Given the description of an element on the screen output the (x, y) to click on. 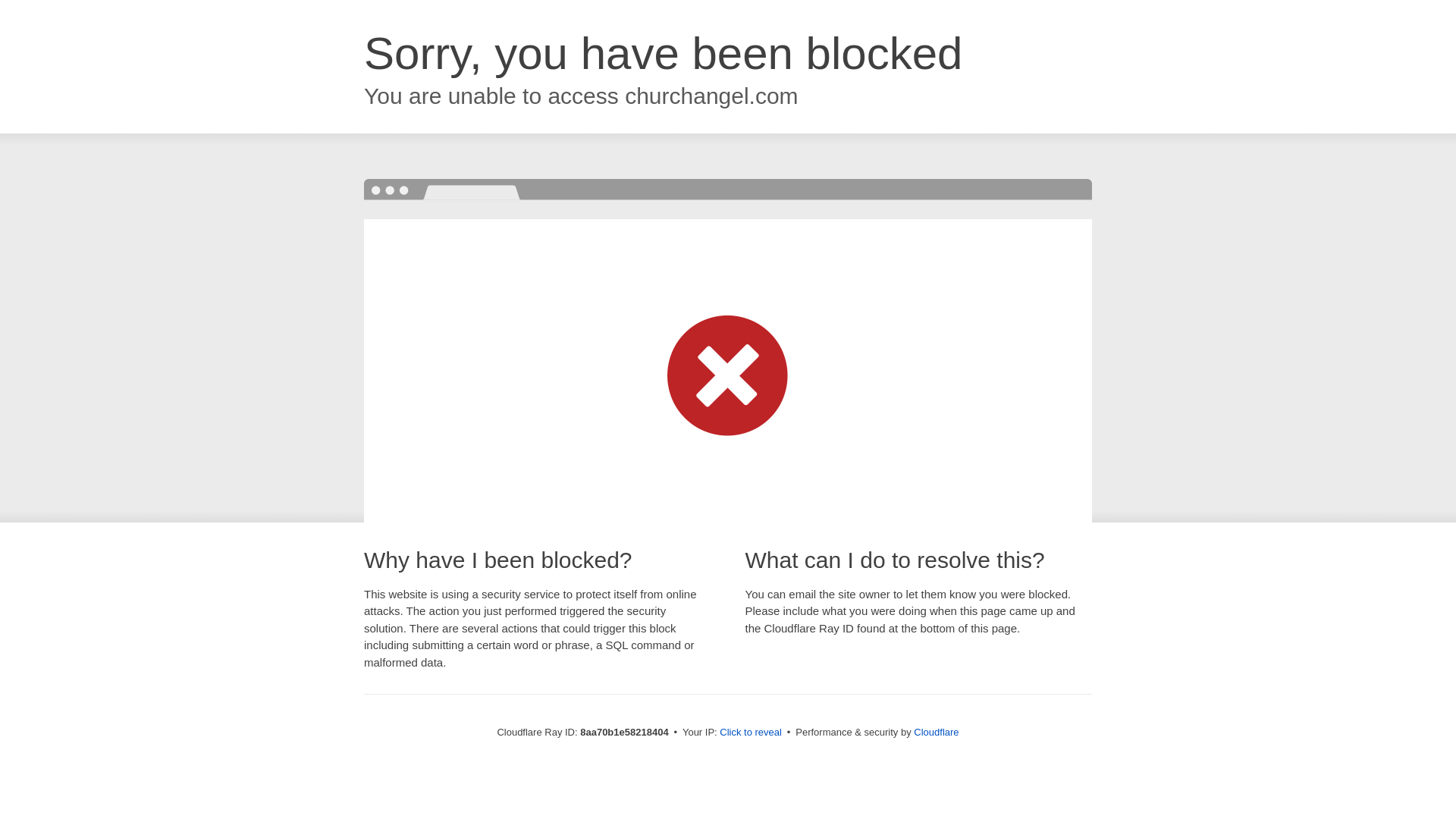
Cloudflare (936, 731)
Click to reveal (750, 732)
